Given the description of an element on the screen output the (x, y) to click on. 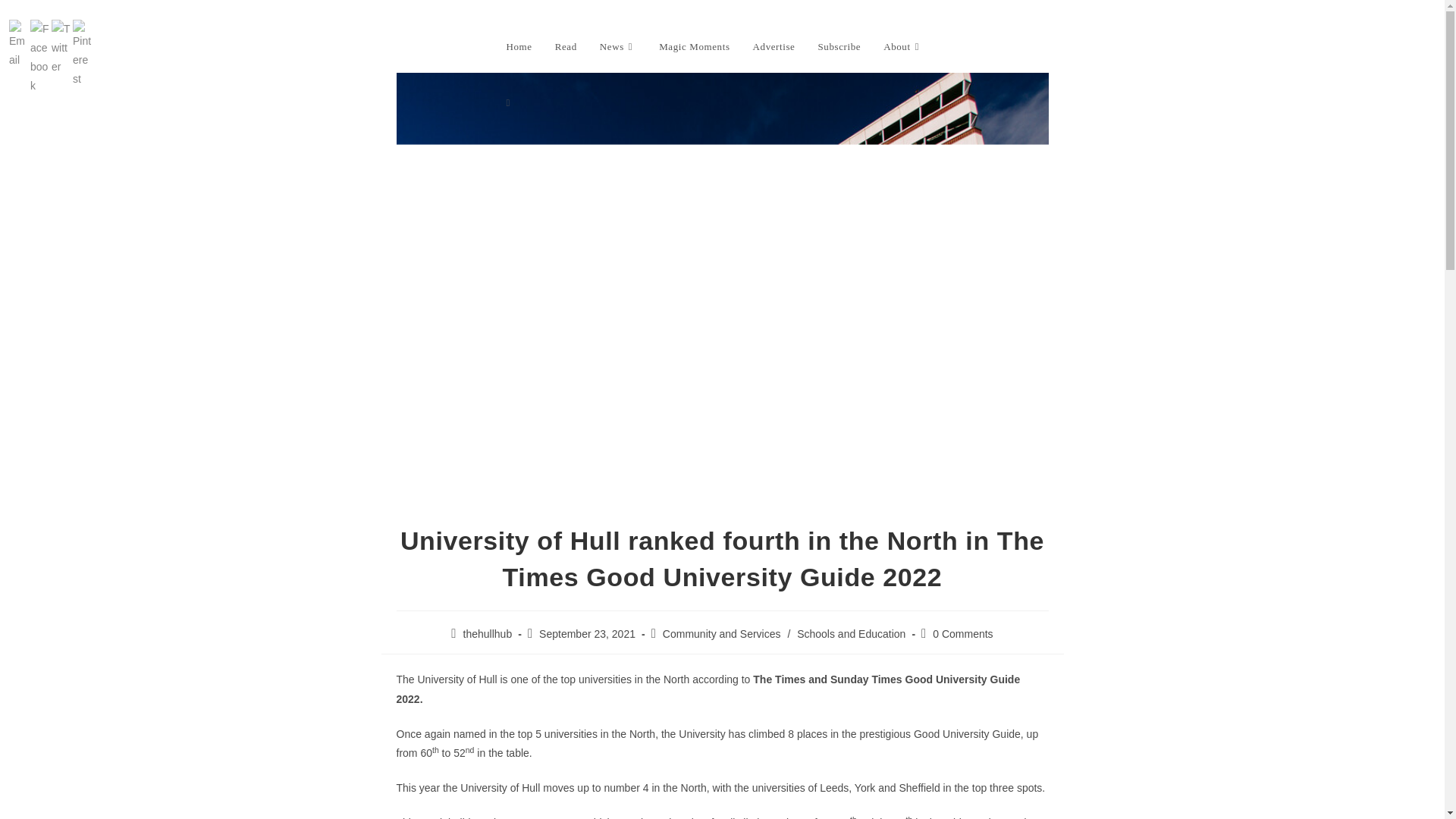
Posts by thehullhub (487, 633)
Subscribe (839, 46)
Magic Moments (694, 46)
News (617, 46)
About (903, 46)
Advertise (773, 46)
